Given the description of an element on the screen output the (x, y) to click on. 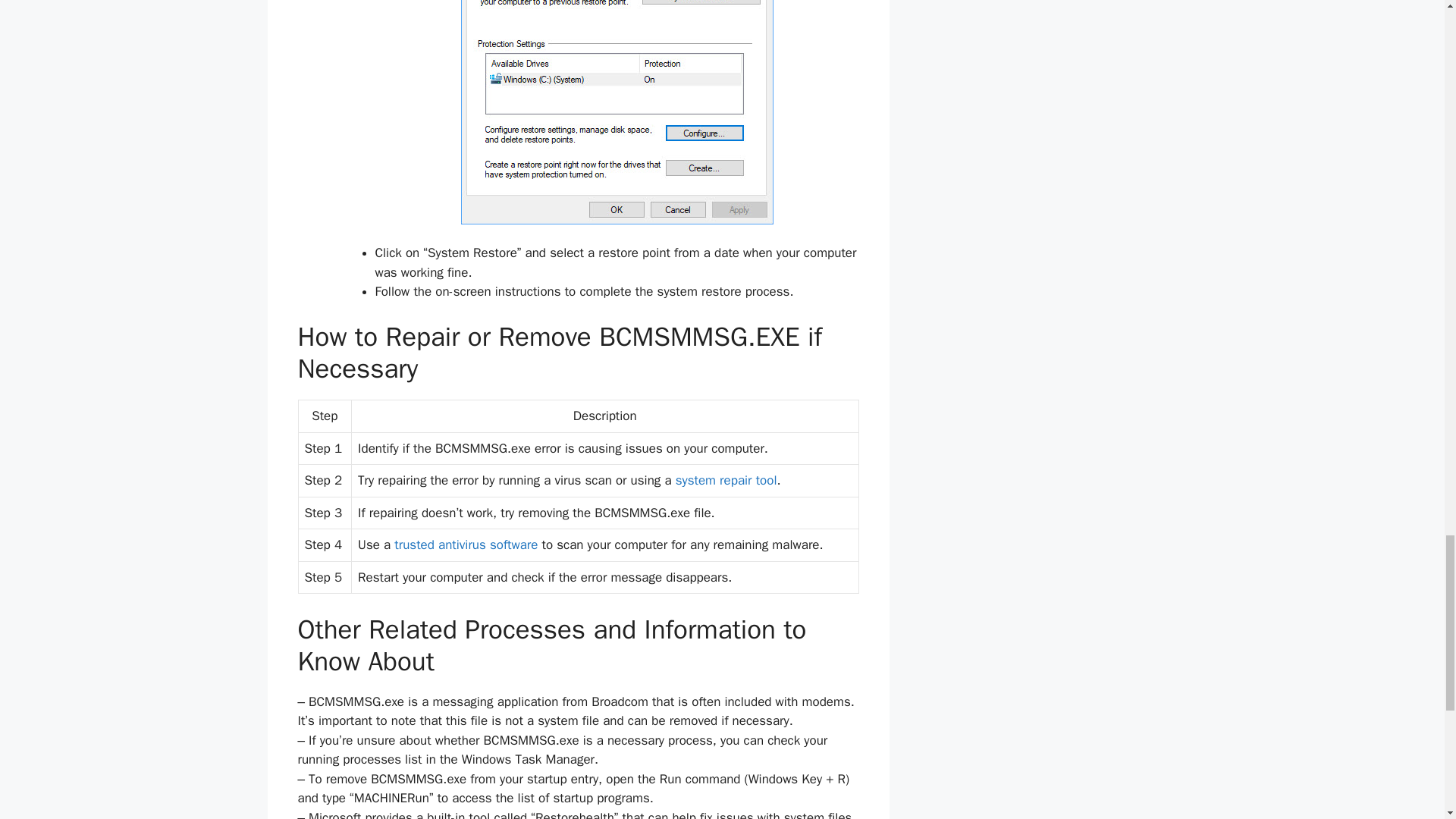
trusted antivirus software (465, 544)
Baiduplatform.exe Error and Removal Guide (465, 544)
system repair tool (726, 480)
